Given the description of an element on the screen output the (x, y) to click on. 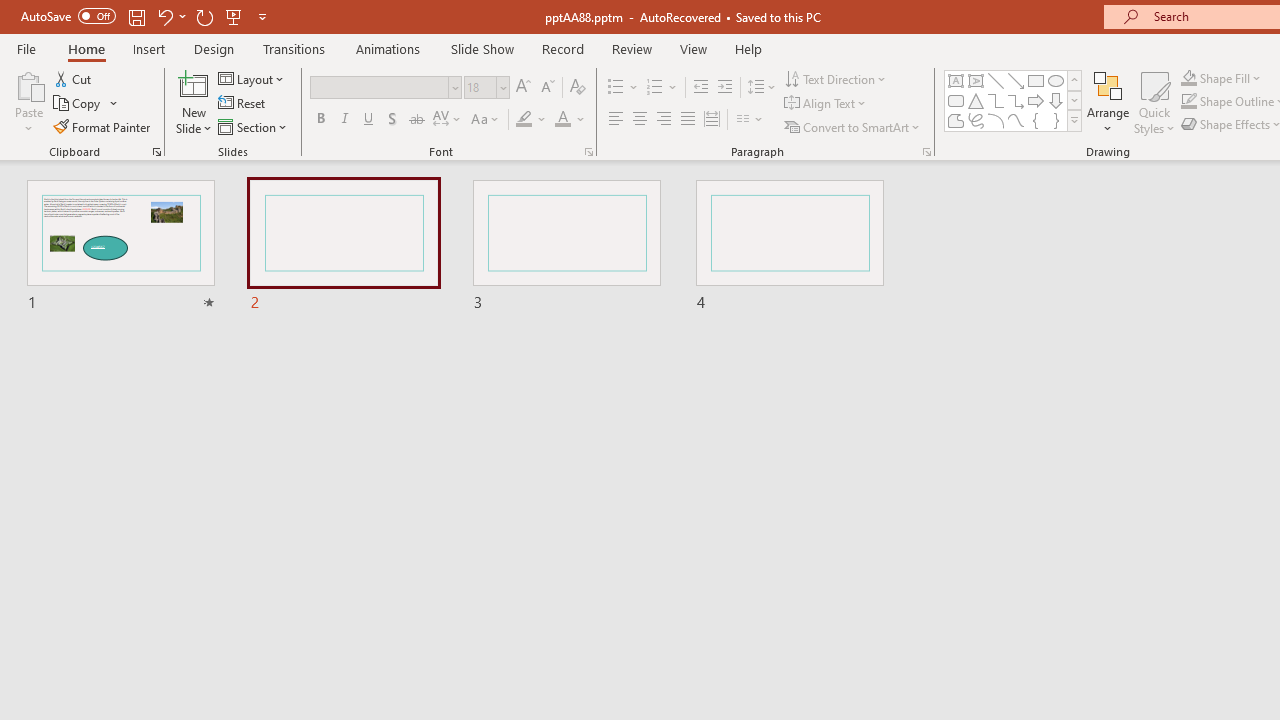
Shape Fill Aqua, Accent 2 (1188, 78)
